Given the description of an element on the screen output the (x, y) to click on. 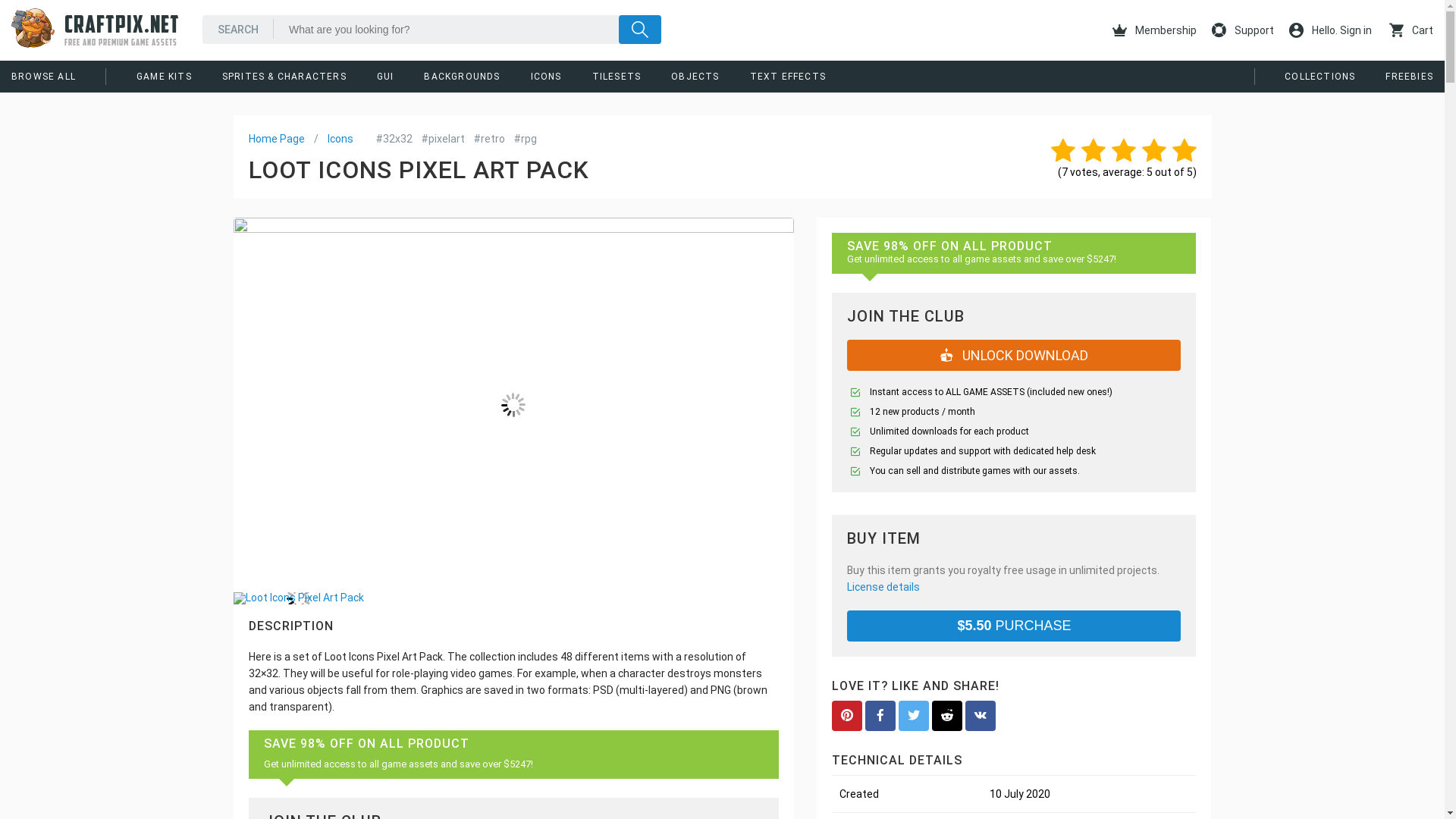
UNLOCK DOWNLOAD (1013, 355)
Hello. Sign in (1329, 30)
Support (1242, 30)
TILESETS (617, 76)
GAME KITS (164, 76)
BROWSE ALL (43, 76)
3 of 5 (1120, 150)
1 of 5 (1060, 150)
COLLECTIONS (1319, 76)
5 of 5 (1181, 150)
